Given the description of an element on the screen output the (x, y) to click on. 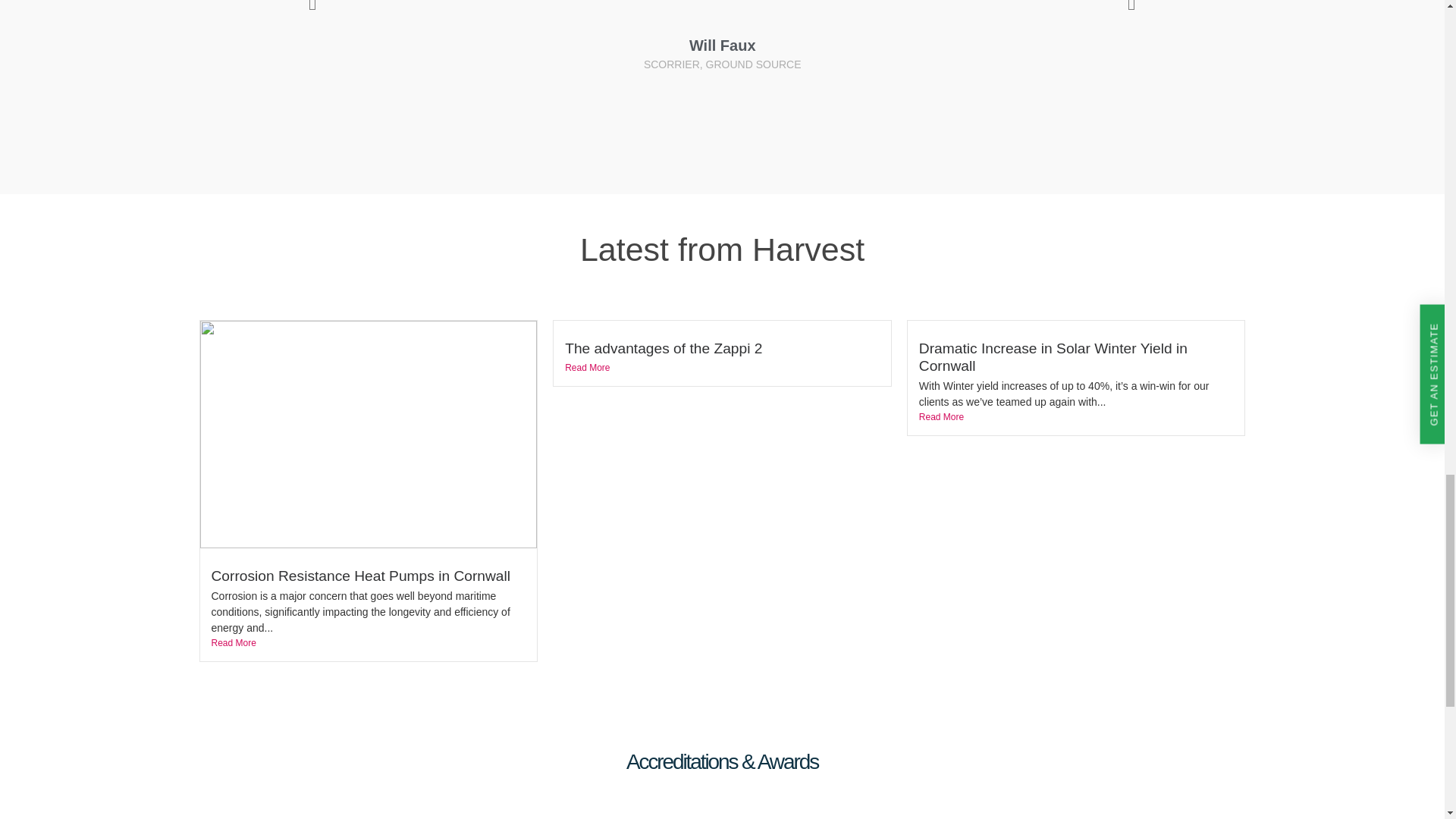
Corrosion Resistance Heat Pumps in Cornwall (361, 575)
The advantages of the Zappi 2 (662, 348)
Dramatic Increase in Solar Winter Yield in Cornwall (1053, 356)
